Given the description of an element on the screen output the (x, y) to click on. 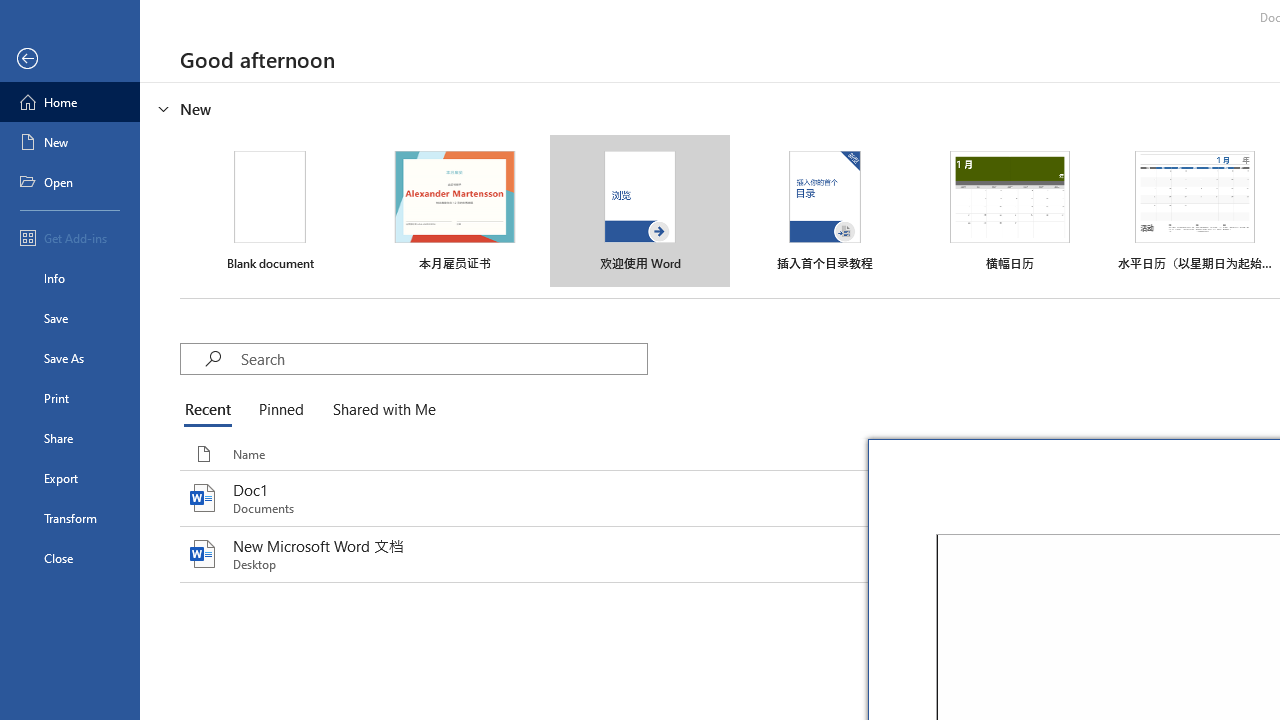
Shared with Me (379, 410)
Info (69, 277)
Recent (212, 410)
Save As (69, 357)
New (69, 141)
Export (69, 477)
Back (69, 59)
